Given the description of an element on the screen output the (x, y) to click on. 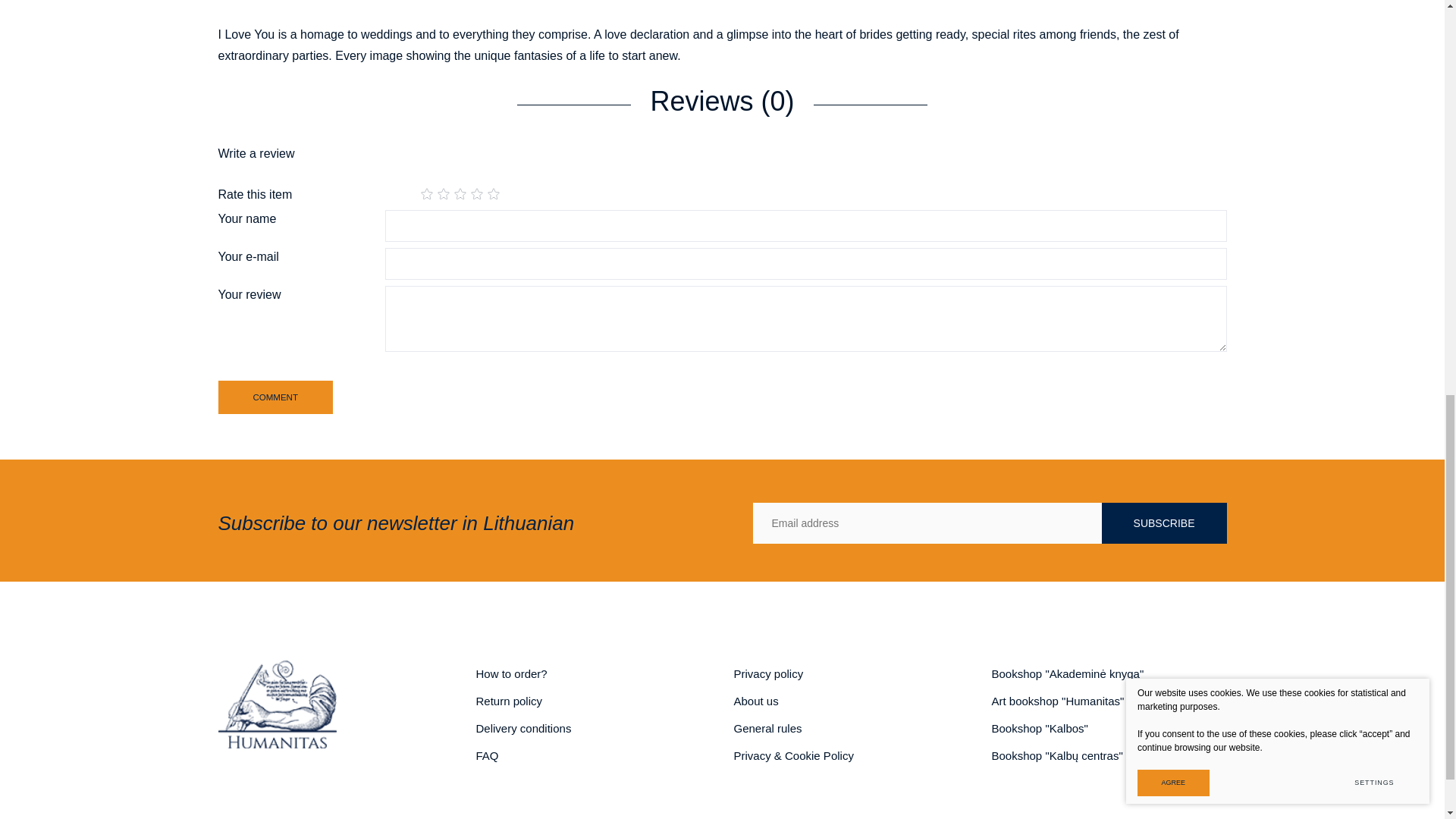
Email address (926, 522)
